Given the description of an element on the screen output the (x, y) to click on. 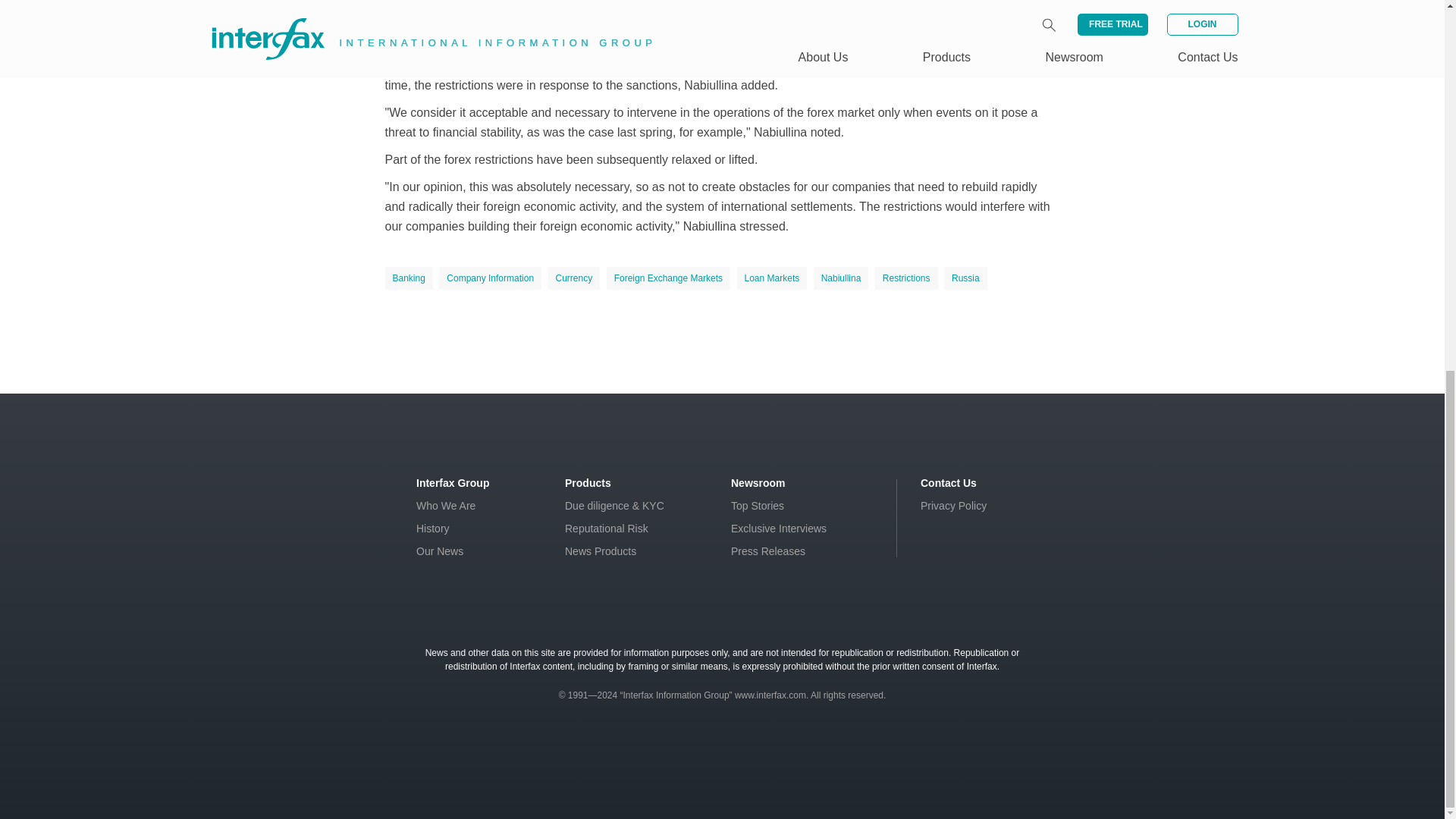
Foreign Exchange Markets (668, 277)
Banking (408, 277)
Currency (573, 277)
Company Information (490, 277)
